Given the description of an element on the screen output the (x, y) to click on. 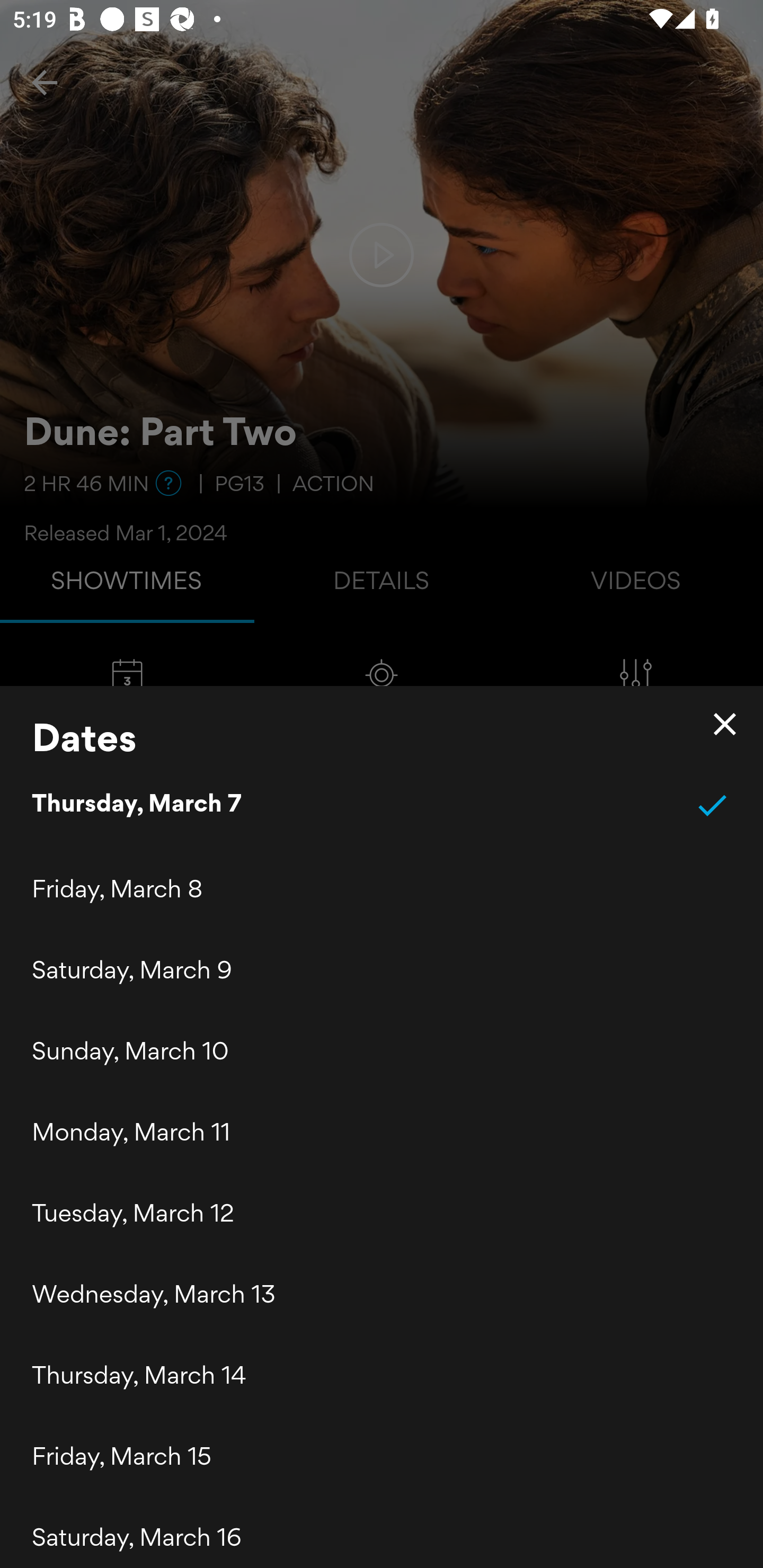
Close (724, 724)
Thursday, March 7 (381, 805)
Friday, March 8 (381, 888)
Saturday, March 9 (381, 969)
Sunday, March 10 (381, 1050)
Monday, March 11 (381, 1131)
Tuesday, March 12 (381, 1212)
Wednesday, March 13 (381, 1293)
Thursday, March 14 (381, 1374)
Friday, March 15 (381, 1455)
Saturday, March 16 (381, 1531)
